Given the description of an element on the screen output the (x, y) to click on. 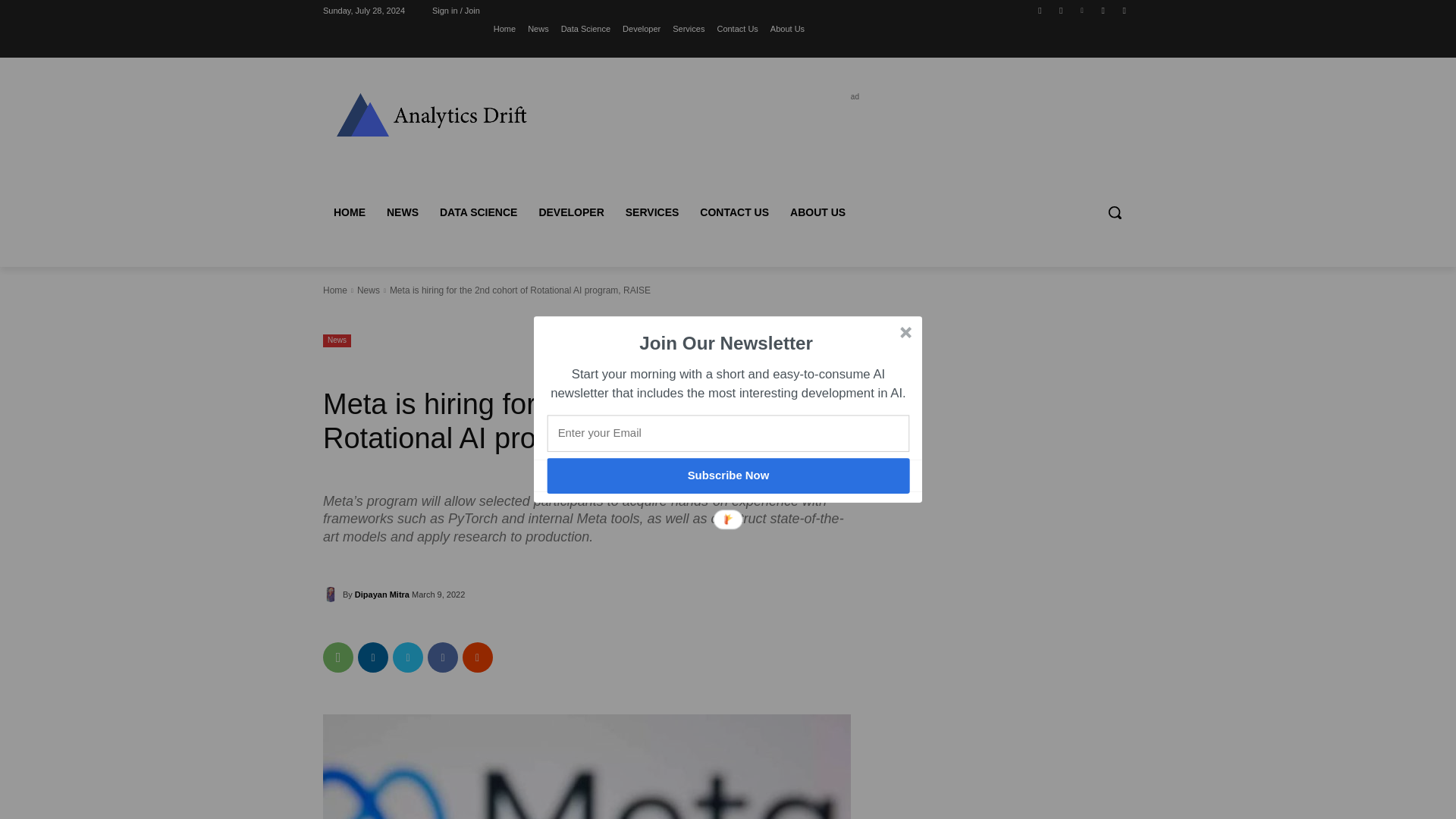
News (336, 340)
ABOUT US (817, 212)
Twitter (1123, 9)
Dipayan Mitra (382, 594)
Telegram (1103, 9)
SERVICES (652, 212)
AI Portal (431, 114)
Instagram (1061, 9)
News (537, 28)
CONTACT US (733, 212)
Advertisement (852, 138)
Contact Us (736, 28)
DATA SCIENCE (478, 212)
View all posts in News (368, 290)
About Us (787, 28)
